Given the description of an element on the screen output the (x, y) to click on. 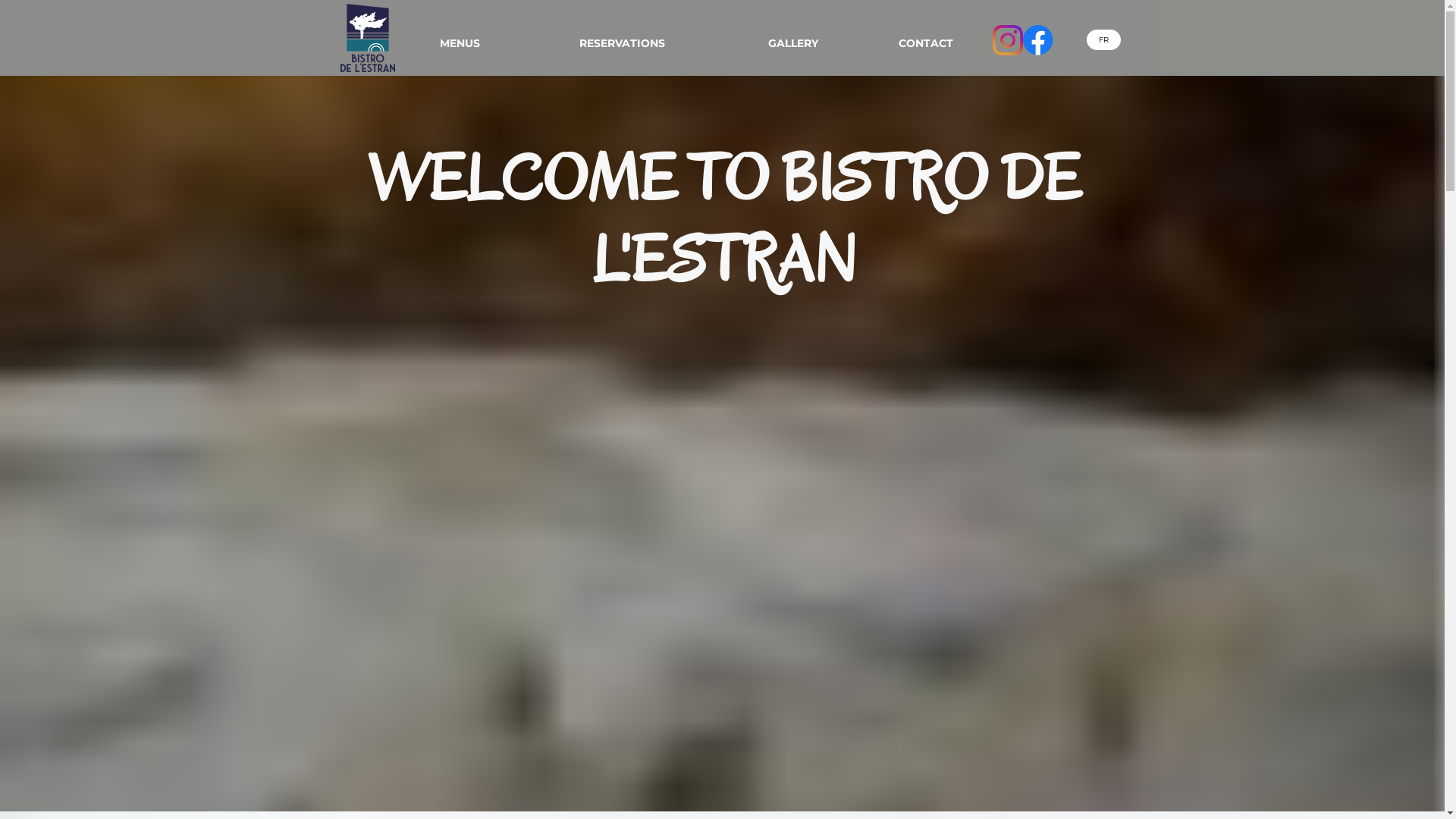
RESERVATIONS Element type: text (622, 43)
MENUS Element type: text (459, 43)
CONTACT Element type: text (925, 43)
FR Element type: text (1102, 39)
GALLERY Element type: text (793, 43)
